Given the description of an element on the screen output the (x, y) to click on. 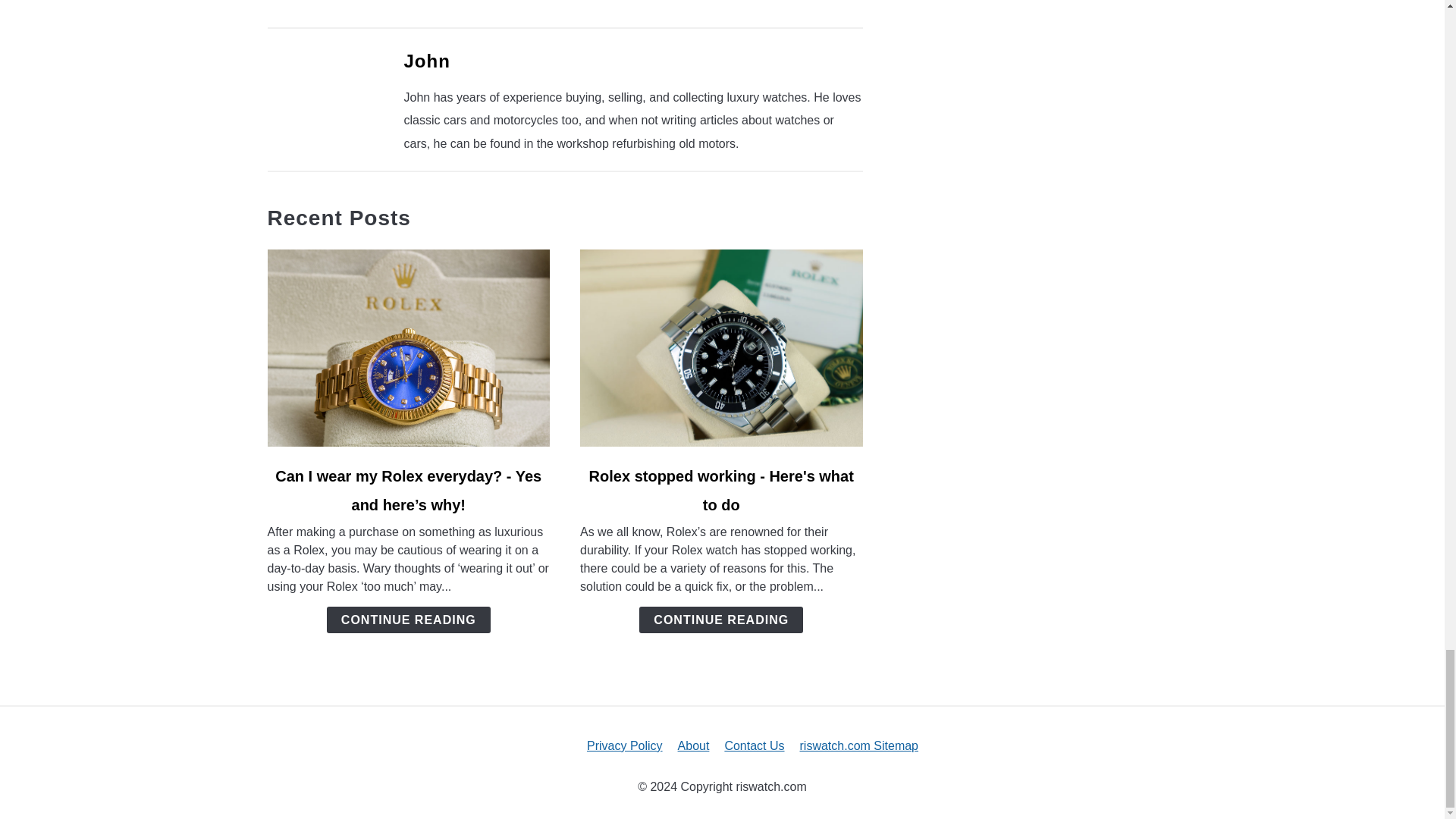
John (426, 60)
Rolex stopped working - Here's what to do (721, 490)
riswatch.com Sitemap (858, 745)
Privacy Policy (624, 745)
Contact Us (753, 745)
CONTINUE READING (721, 619)
CONTINUE READING (408, 619)
About (694, 745)
link to Rolex stopped working - Here's what to do (721, 347)
